Given the description of an element on the screen output the (x, y) to click on. 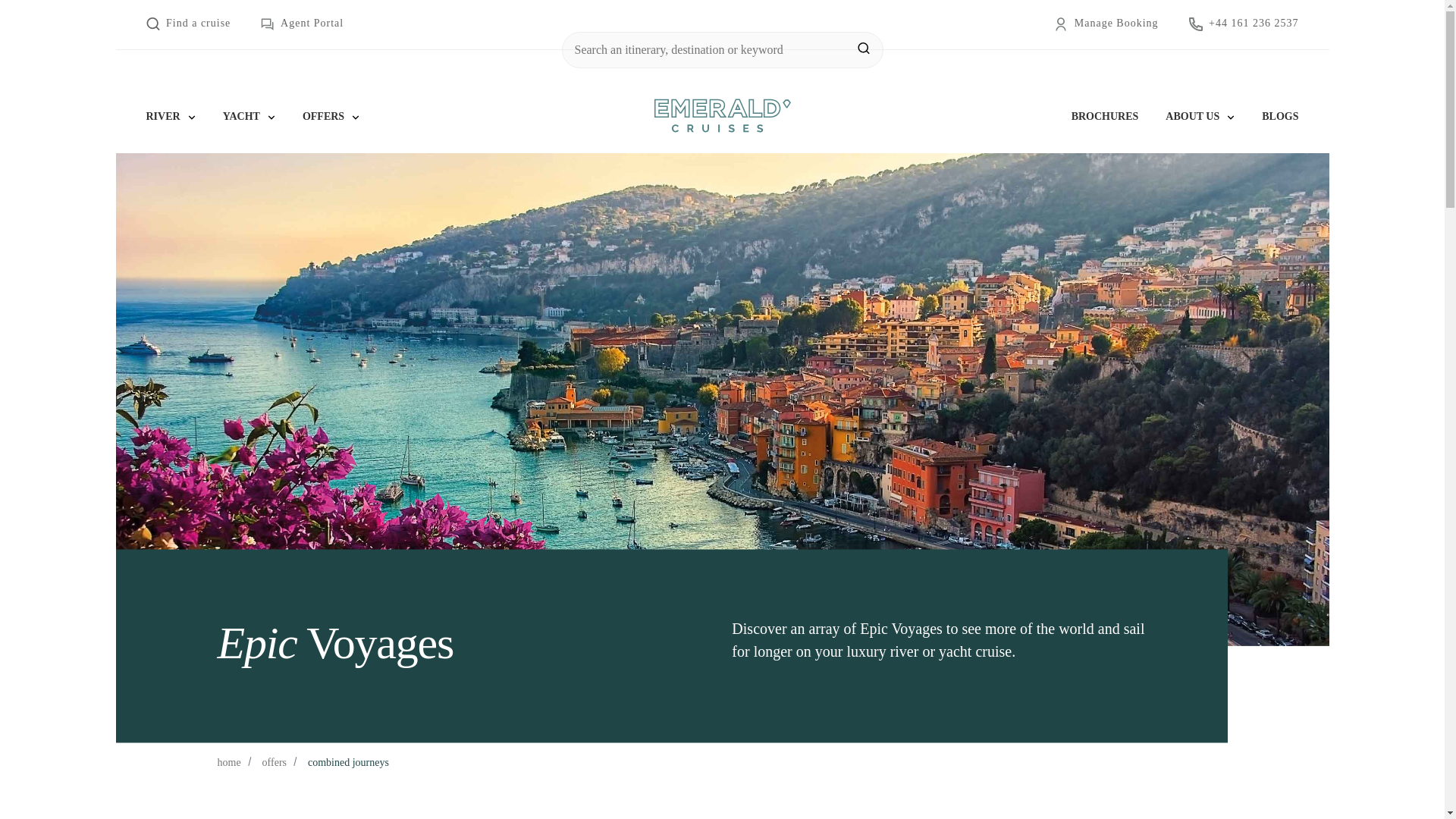
Agent Portal (301, 24)
Manage Booking (1105, 24)
Find a cruise (187, 24)
